Given the description of an element on the screen output the (x, y) to click on. 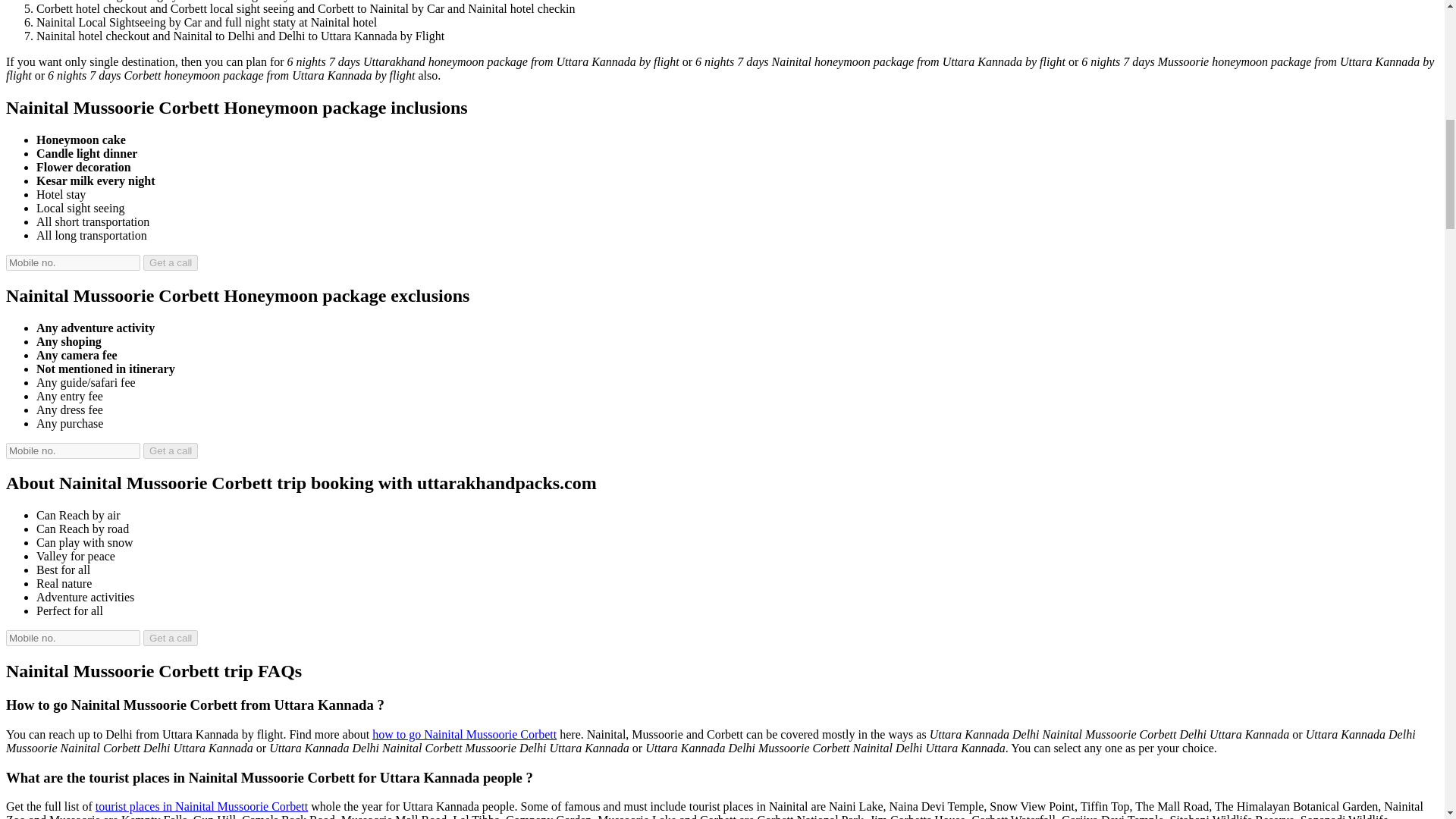
Enter your Mo. no. only digits (72, 450)
Get a call (170, 450)
Get a call (170, 450)
Enter your Mo. no. only digits (72, 262)
Get a call (170, 637)
Get a call (170, 262)
Get a call (170, 262)
tourist places in Nainital Mussoorie Corbett (201, 806)
Enter your Mo. no. only digits (72, 637)
how to go Nainital Mussoorie Corbett (464, 734)
Get a call (170, 637)
